Given the description of an element on the screen output the (x, y) to click on. 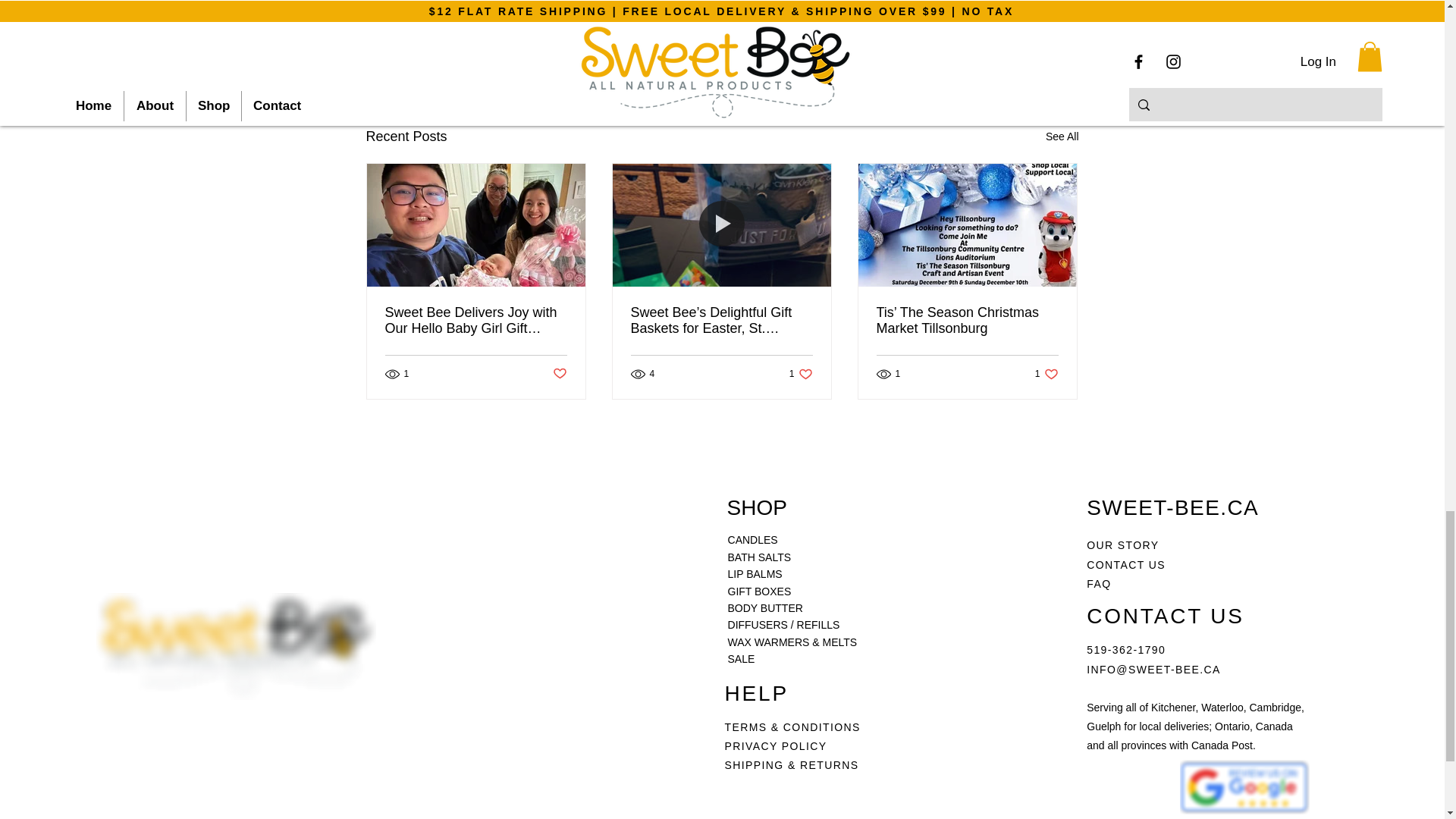
See All (800, 373)
Sweet Bee Delivers Joy with Our Hello Baby Girl Gift Basket (990, 53)
Post not marked as liked (1061, 137)
